Given the description of an element on the screen output the (x, y) to click on. 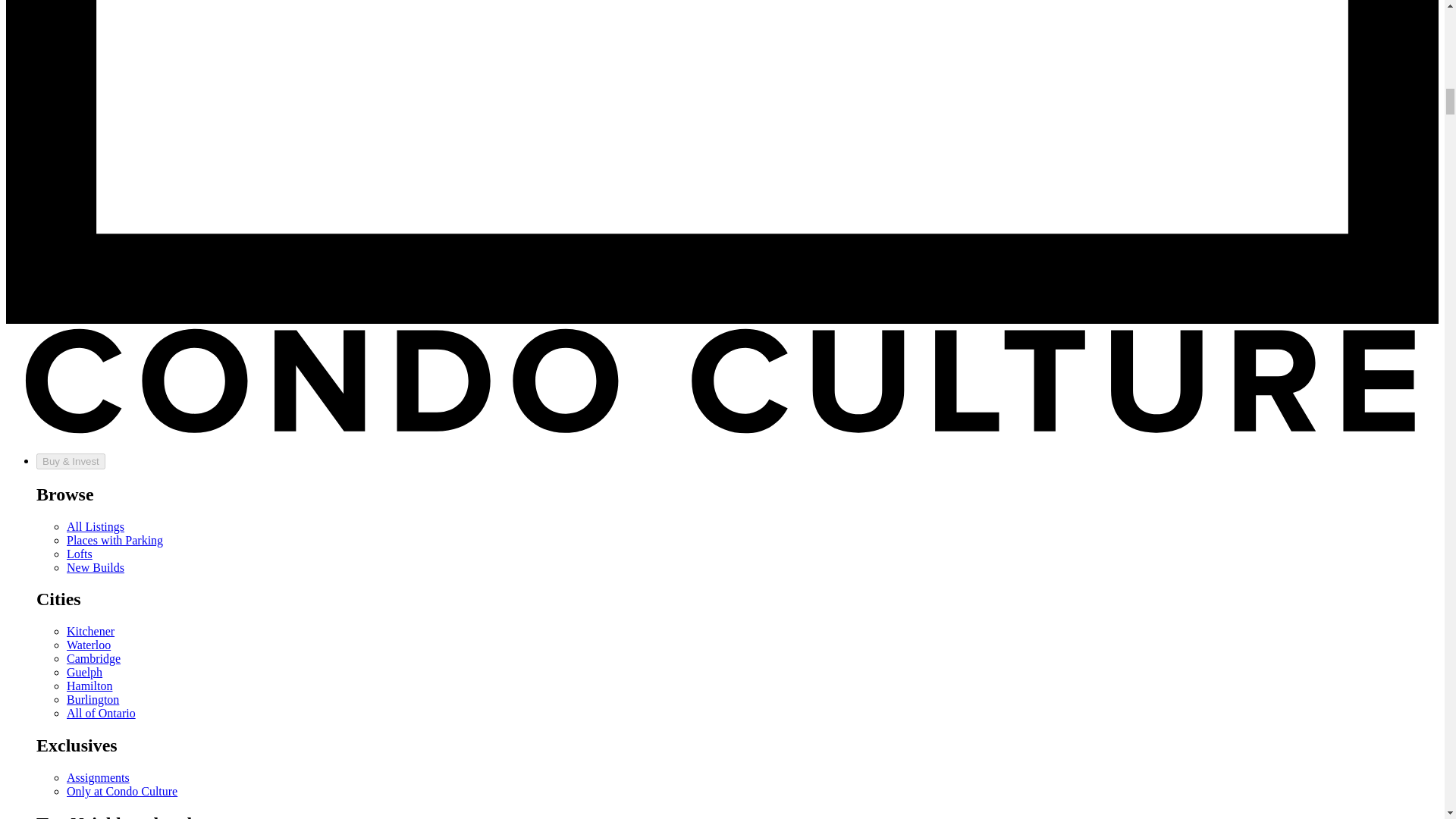
Cambridge (93, 658)
Only at Condo Culture (121, 790)
Hamilton (89, 685)
Burlington (92, 698)
Lofts (79, 553)
Assignments (97, 777)
Waterloo (88, 644)
Kitchener (90, 631)
All of Ontario (100, 712)
Places with Parking (114, 540)
All Listings (94, 526)
New Builds (94, 567)
Guelph (83, 671)
